Given the description of an element on the screen output the (x, y) to click on. 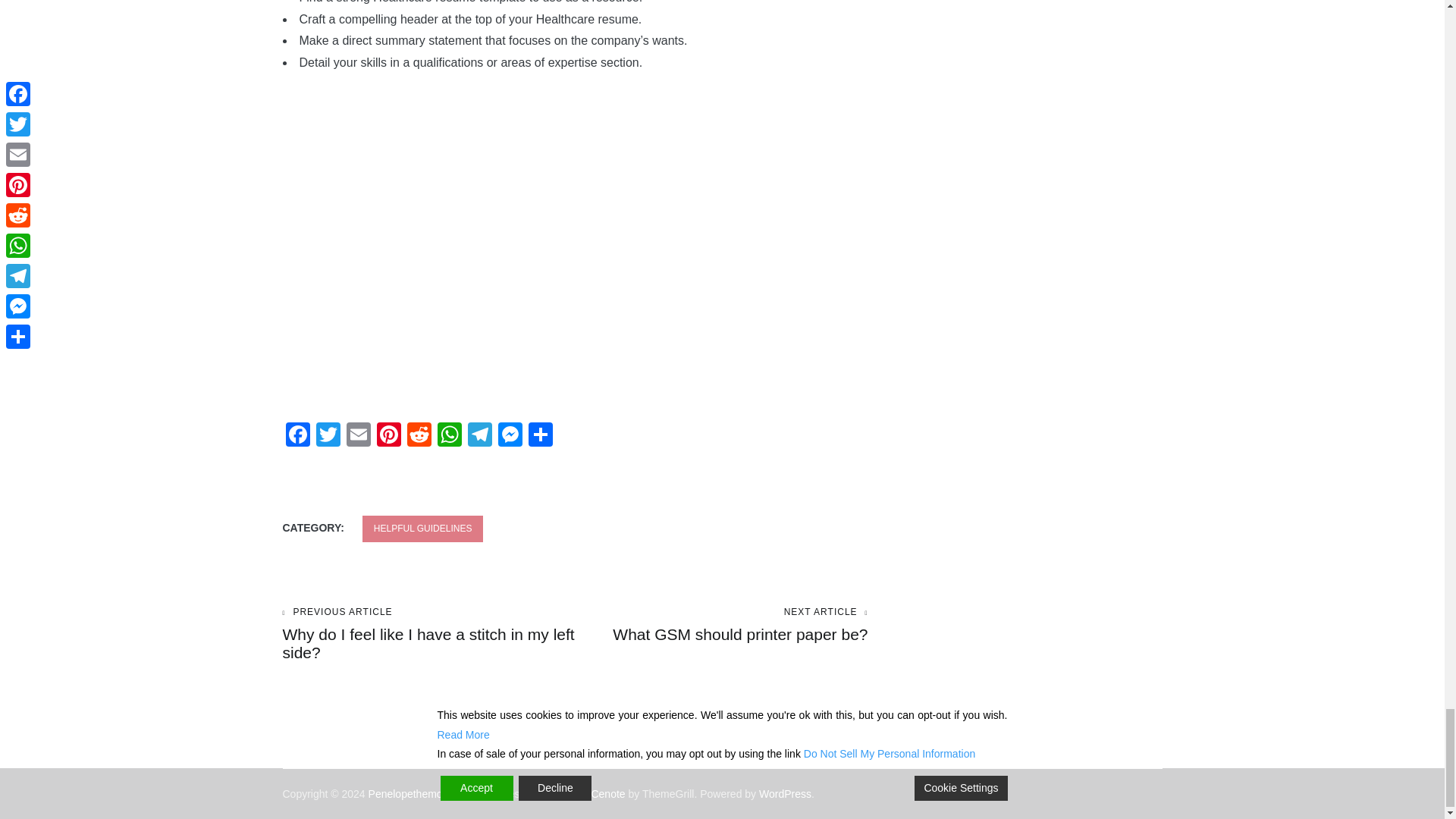
Twitter (327, 436)
Penelopethemovie (412, 793)
WhatsApp (448, 436)
Reddit (418, 436)
Messenger (509, 436)
HELPFUL GUIDELINES (422, 528)
Pinterest (387, 436)
Telegram (479, 436)
Messenger (509, 436)
